Given the description of an element on the screen output the (x, y) to click on. 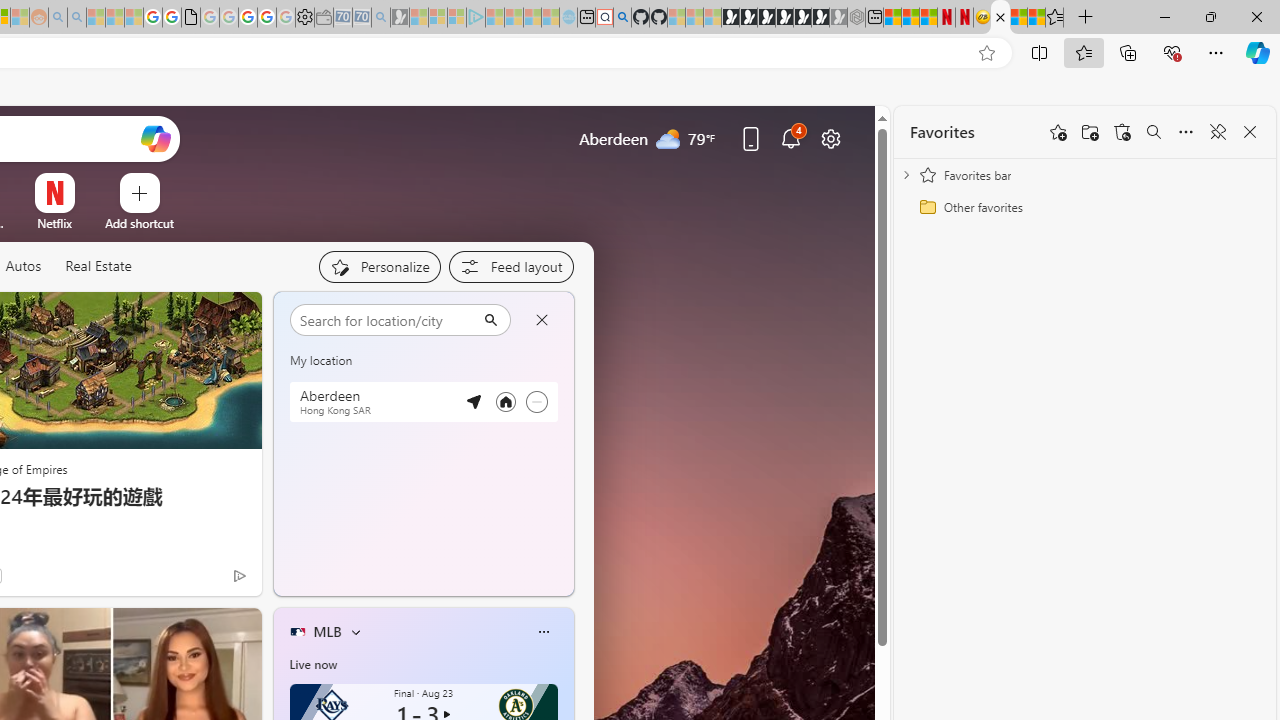
MLB (327, 631)
next (563, 443)
Wildlife - MSN (1017, 17)
